Given the description of an element on the screen output the (x, y) to click on. 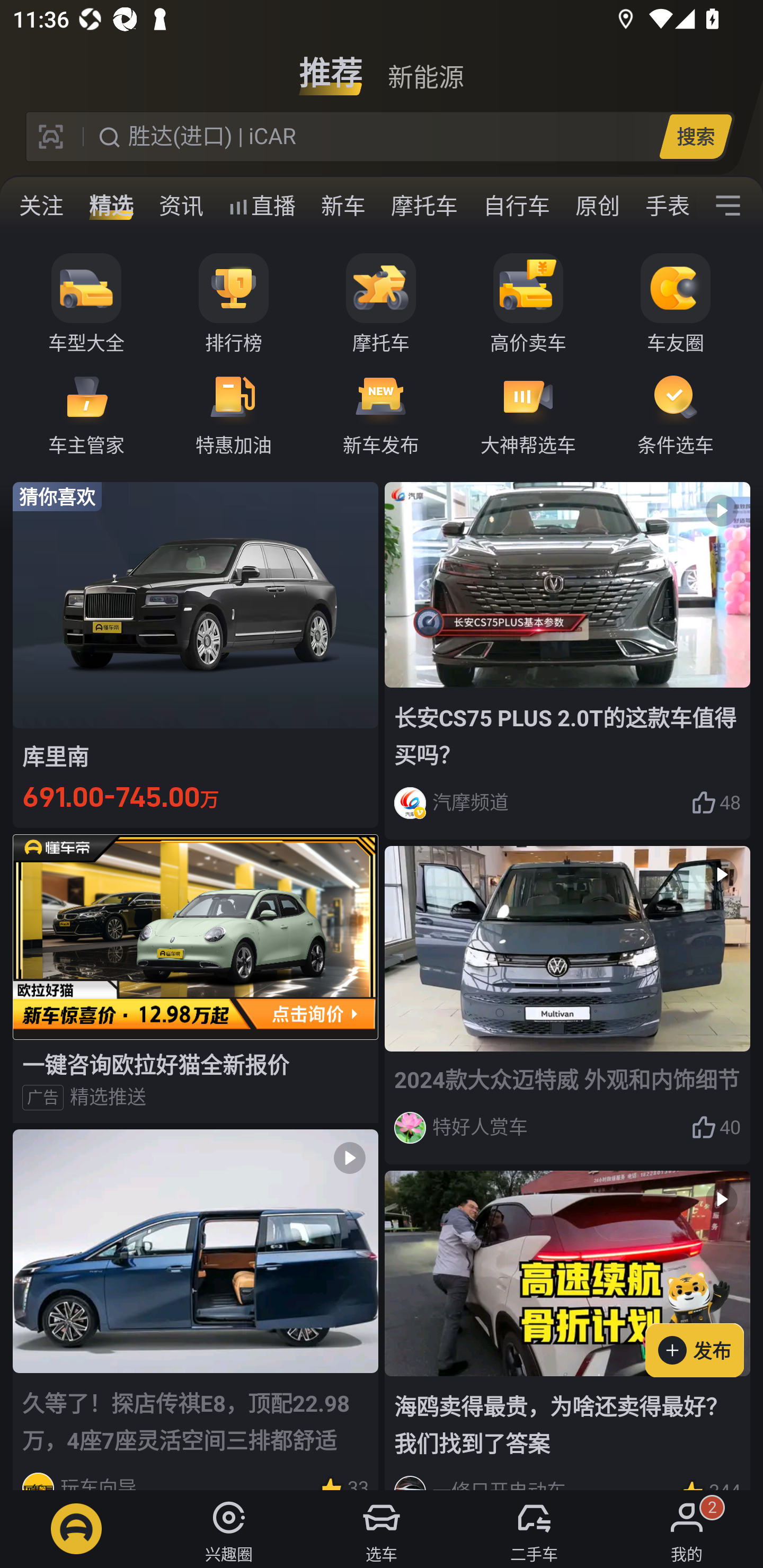
推荐 (330, 65)
新能源 (425, 65)
搜索 (695, 136)
关注 (41, 205)
精选 (111, 205)
资讯 (180, 205)
直播 (261, 205)
新车 (343, 205)
摩托车 (424, 205)
自行车 (516, 205)
原创 (597, 205)
手表 (663, 205)
 (727, 205)
车型大全 (86, 303)
排行榜 (233, 303)
摩托车 (380, 303)
高价卖车 (528, 303)
车友圈 (675, 303)
车主管家 (86, 412)
特惠加油 (233, 412)
新车发布 (380, 412)
大神帮选车 (528, 412)
条件选车 (675, 412)
猜你喜欢 库里南 691.00-745.00万 (195, 654)
 长安CS75 PLUS 2.0T的这款车值得买吗？ 汽摩频道 48 (567, 659)
48 (715, 802)
一键咨询欧拉好猫全新报价 广告 精选推送 (195, 978)
 2024款大众迈特威 外观和内饰细节 特好人赏车 40 (567, 1005)
40 (715, 1126)
 久等了！探店传祺E8，顶配22.98万，4座7座灵活空间三排都舒适 玩车向导 33 (195, 1308)
 海鸥卖得最贵，为啥还卖得最好？我们找到了答案 一修只开电动车 344 (567, 1330)
发布 (704, 1320)
 兴趣圈 (228, 1528)
 选车 (381, 1528)
 二手车 (533, 1528)
 我的 (686, 1528)
